Given the description of an element on the screen output the (x, y) to click on. 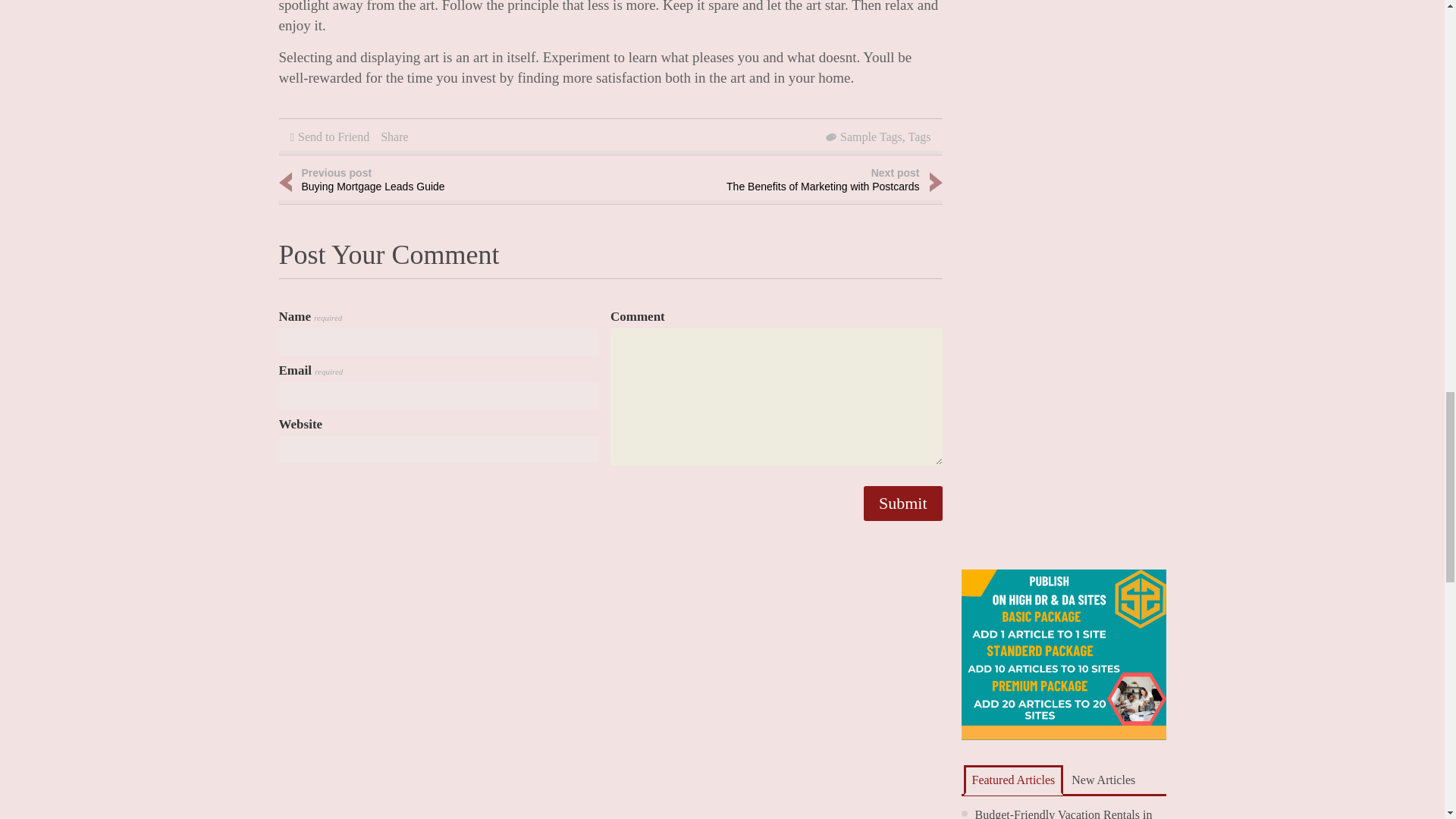
Featured Articles (1012, 779)
Submit (902, 503)
Sample Tags (797, 182)
Share (871, 136)
Send to Friend (393, 136)
Budget-Friendly Vacation Rentals in Punta Gorda (333, 136)
New Articles (423, 182)
Featured Articles (1064, 813)
Submit (1103, 779)
Tags (1012, 779)
New Articles (902, 503)
